Given the description of an element on the screen output the (x, y) to click on. 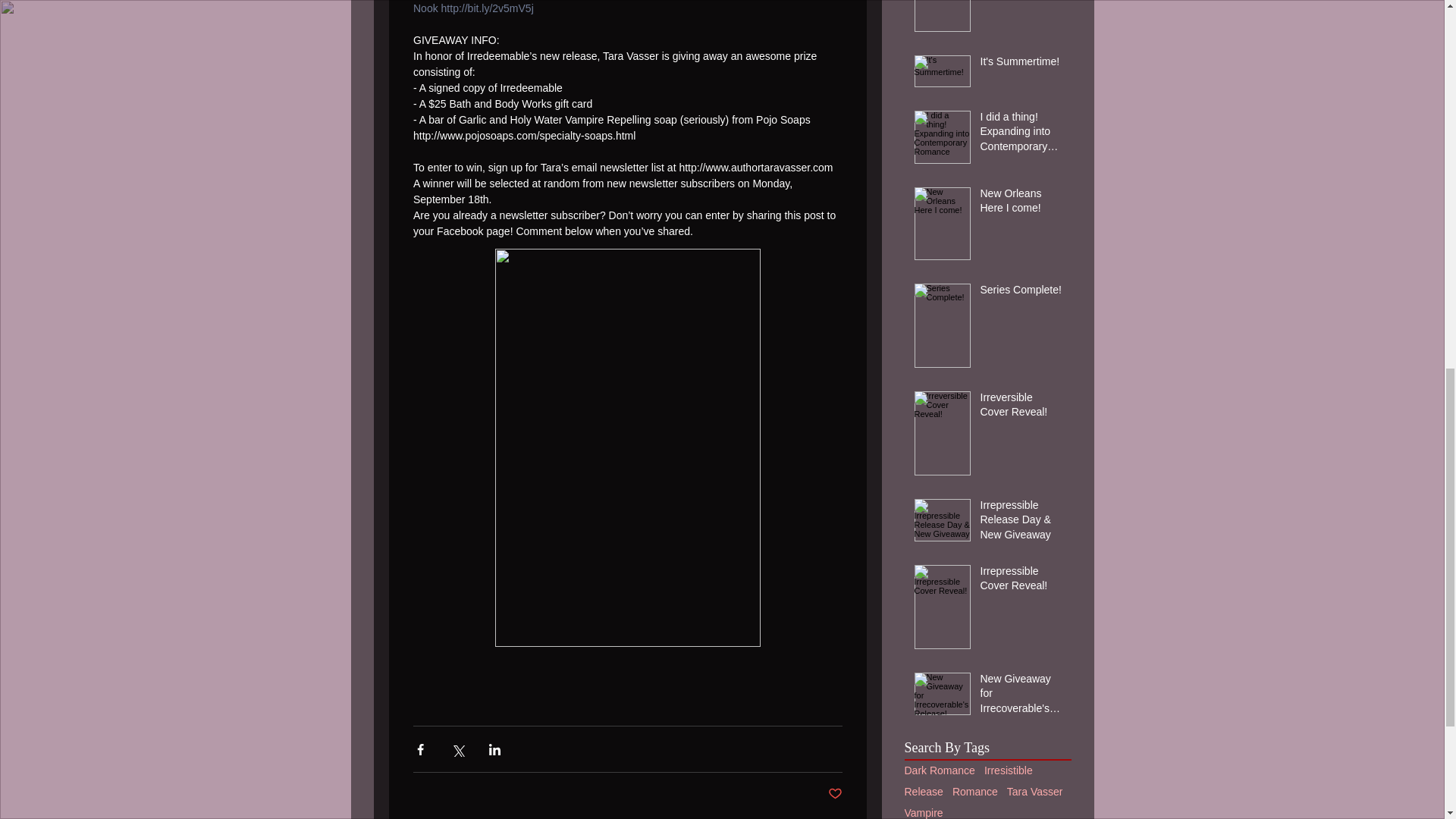
Irreversible Cover Reveal! (1020, 407)
Irresistible (1008, 770)
Dark Romance (939, 770)
Romance (974, 791)
Irrepressible Cover Reveal! (1020, 581)
Release (923, 791)
New Orleans Here I come! (1020, 203)
Series Complete! (1020, 292)
It's Summertime! (1020, 65)
New Giveaway for Irrecoverable's Release! (1020, 696)
